Given the description of an element on the screen output the (x, y) to click on. 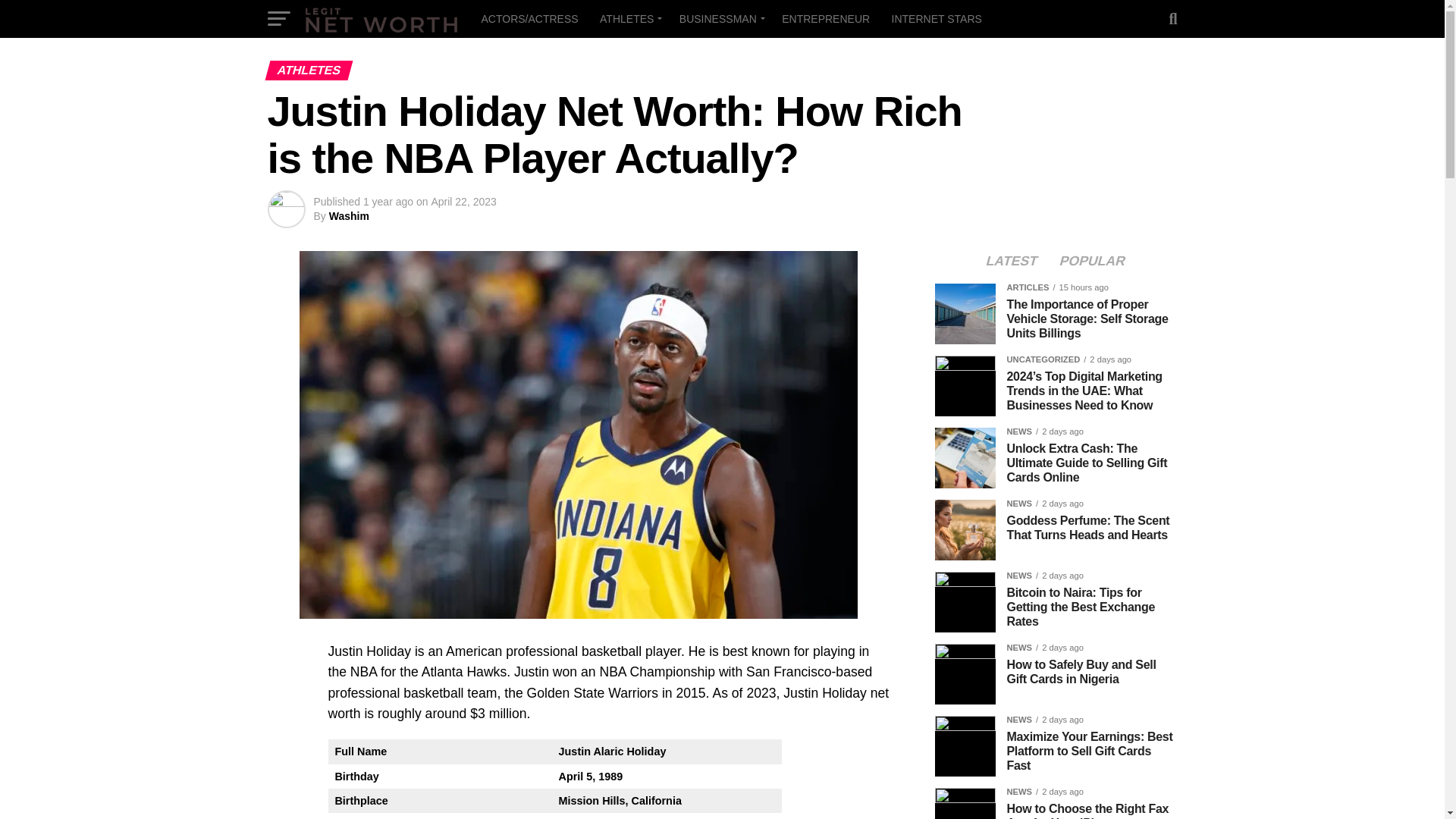
Posts by Washim (349, 215)
BUSINESSMAN (719, 18)
INTERNET STARS (936, 18)
ATHLETES (628, 18)
ENTREPRENEUR (826, 18)
